Given the description of an element on the screen output the (x, y) to click on. 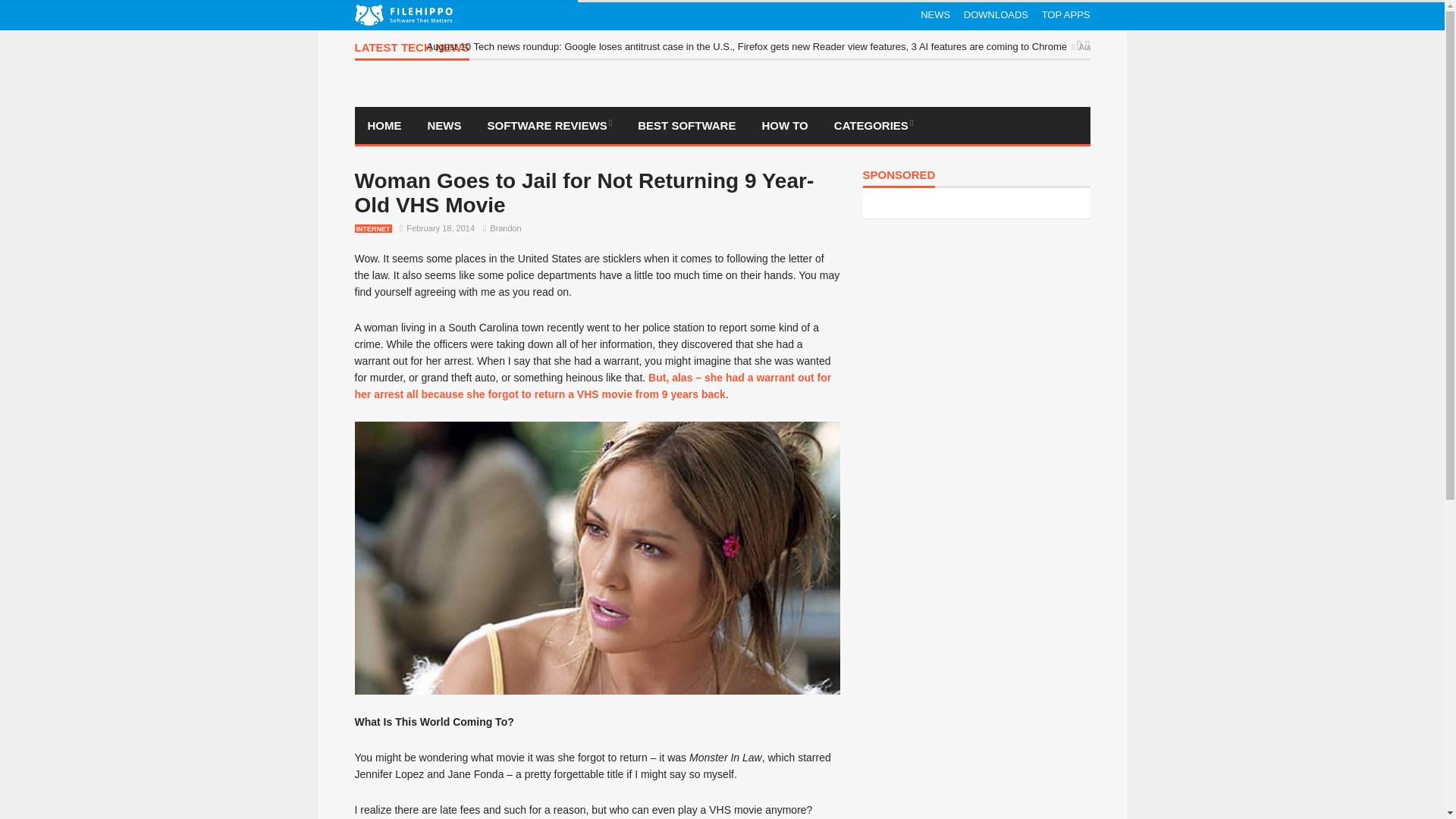
Software Reviews (550, 125)
NEWS (935, 14)
Best Software (686, 125)
NEWS (443, 125)
News (443, 125)
TOP APPS (1066, 14)
HOME (384, 125)
LATEST TECH NEWS (411, 50)
DOWNLOADS (995, 14)
